Given the description of an element on the screen output the (x, y) to click on. 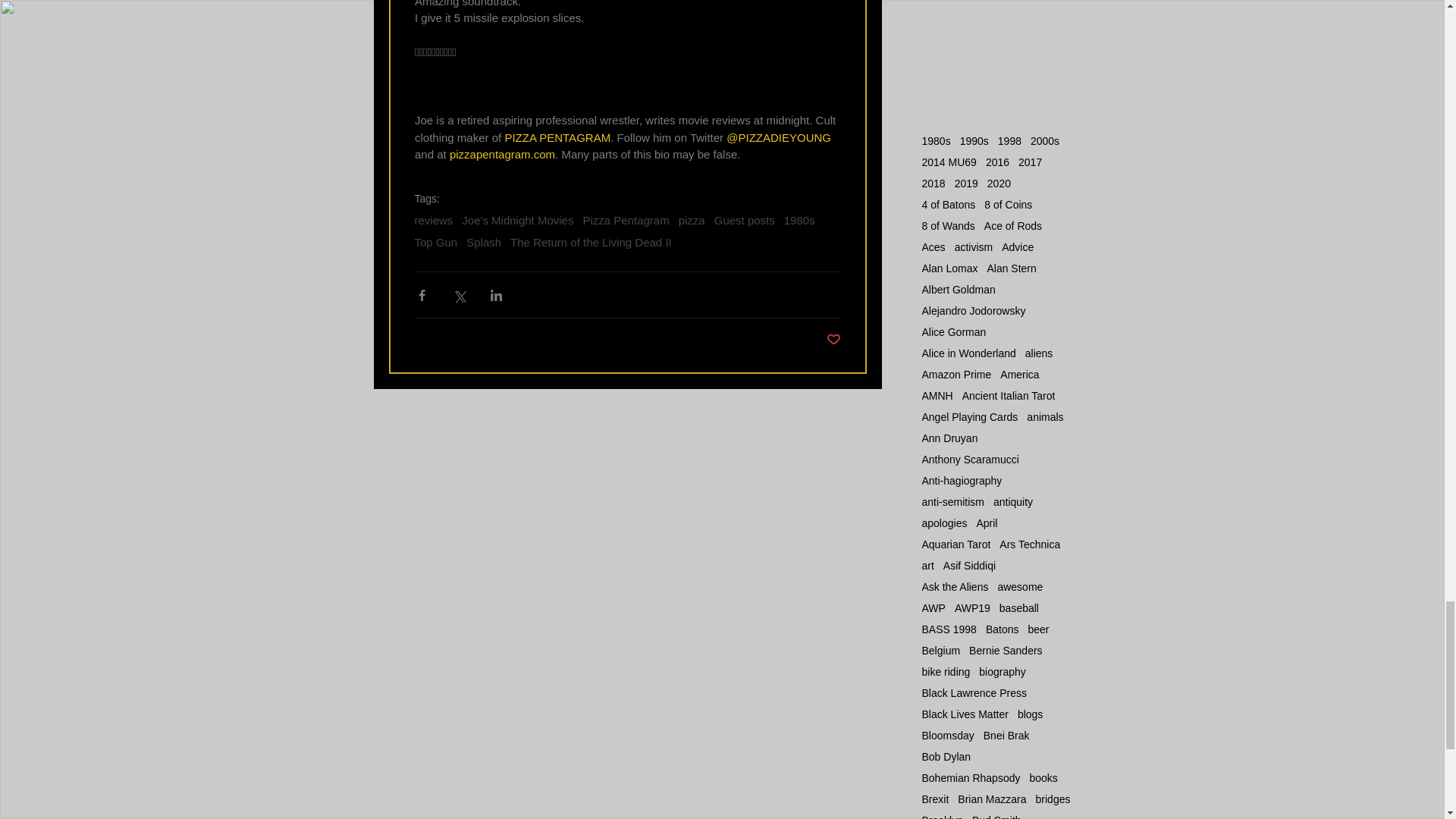
pizzapentagram.com (501, 154)
pizza (691, 219)
PIZZA PENTAGRAM (556, 137)
reviews (432, 219)
Pizza Pentagram (625, 219)
Splash (482, 241)
Top Gun (435, 241)
1980s (799, 219)
Post not marked as liked (834, 340)
Joe's Midnight Movies (517, 219)
